Given the description of an element on the screen output the (x, y) to click on. 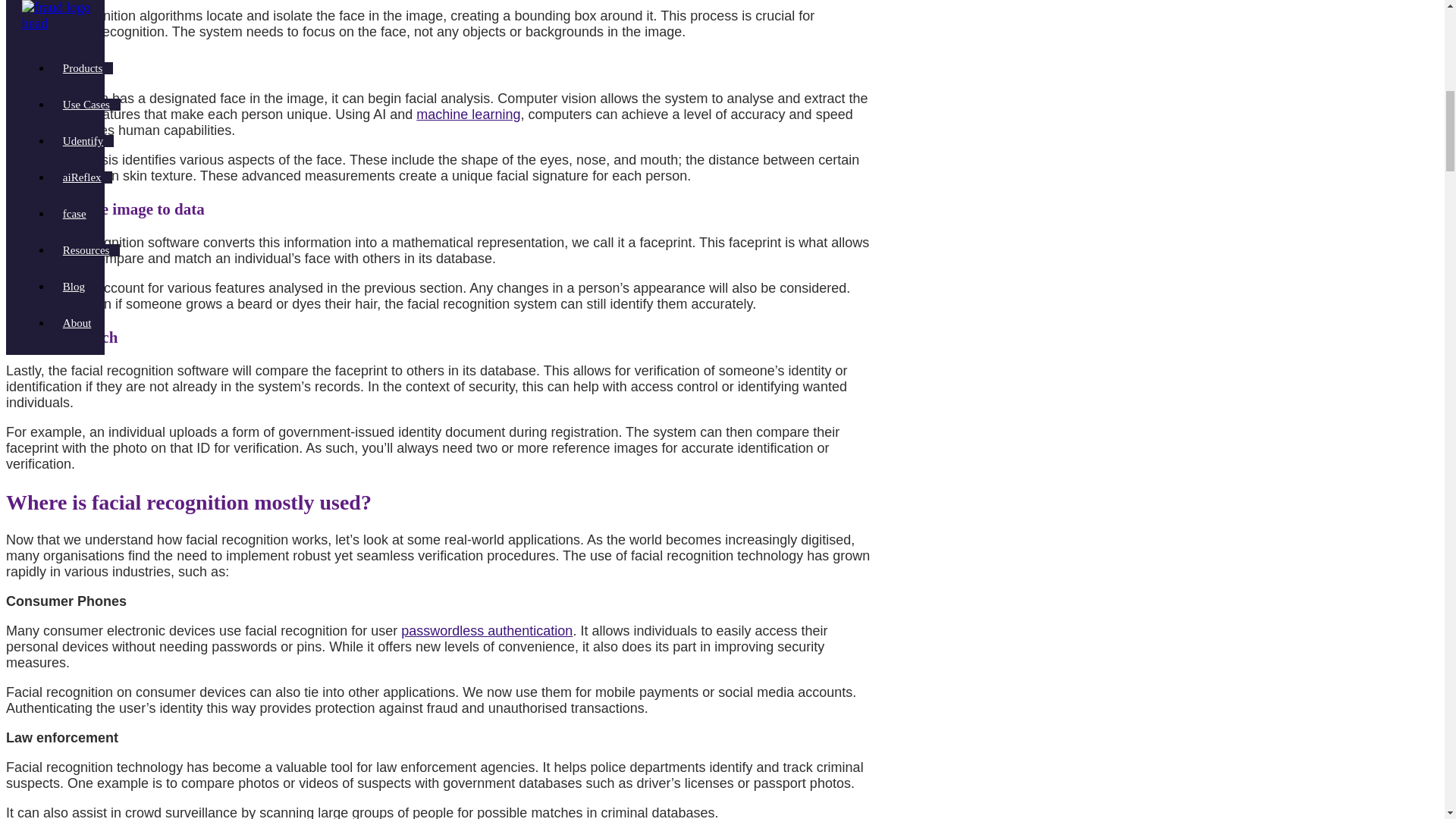
Glossary: Fraud (442, 708)
Glossary: Law Enforcement (425, 767)
passwordless authentication (486, 630)
Glossary: Identity (810, 370)
Glossary: Access Control (673, 386)
machine learning (467, 114)
